Given the description of an element on the screen output the (x, y) to click on. 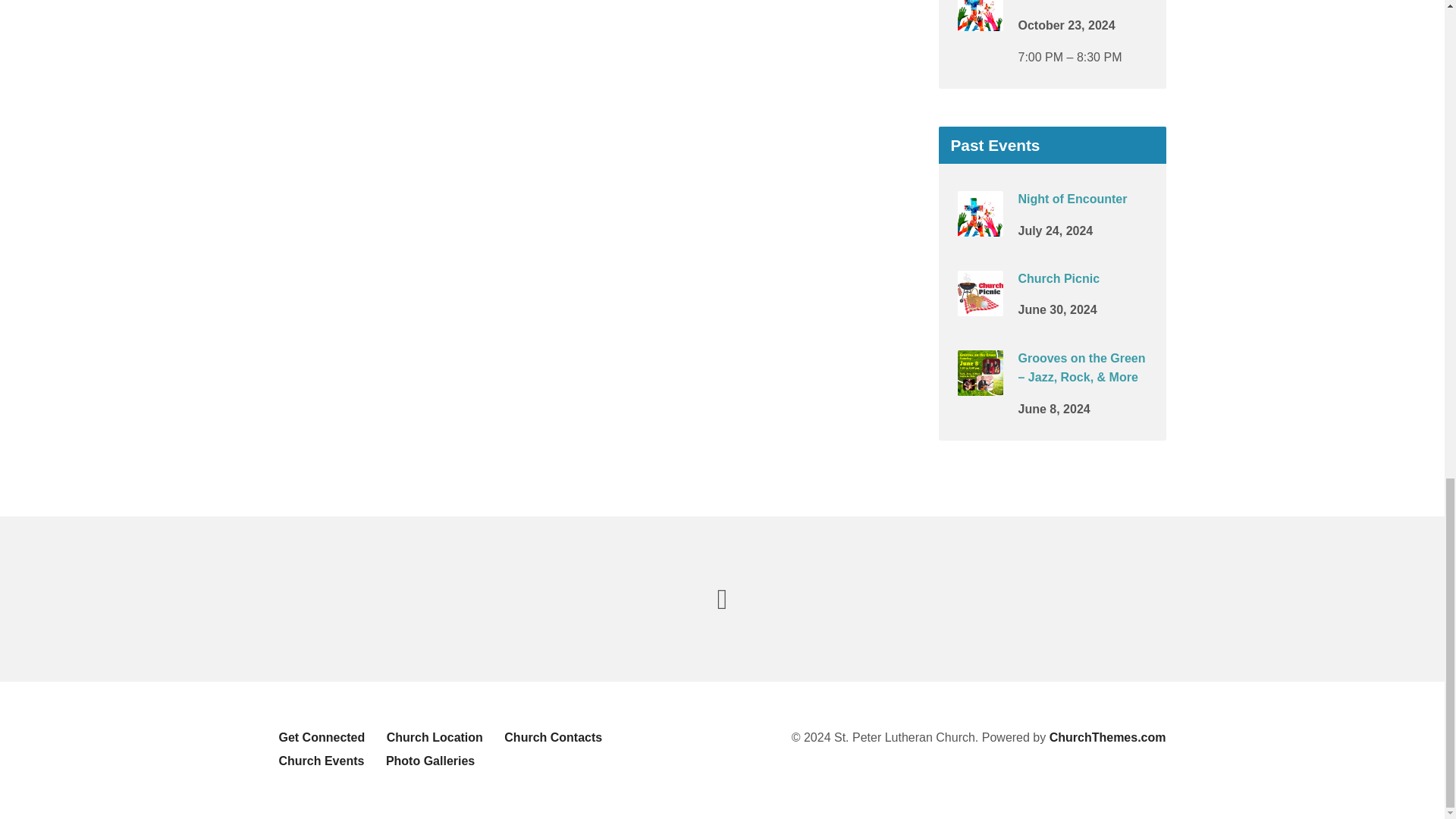
Night of Encounter (979, 20)
